Given the description of an element on the screen output the (x, y) to click on. 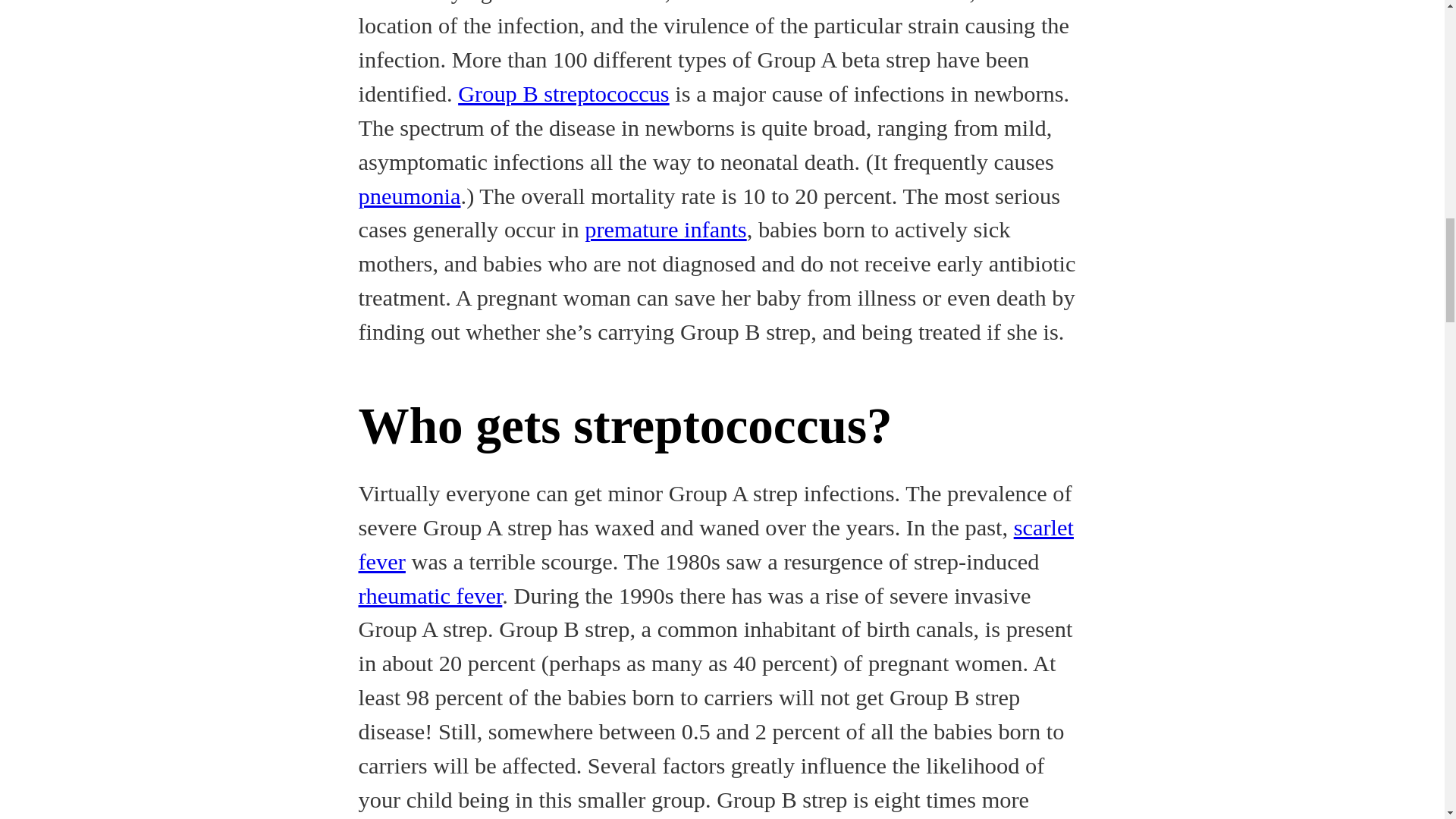
pneumonia (409, 196)
scarlet fever (715, 544)
Group B streptococcus (563, 94)
rheumatic fever (430, 596)
premature infants (665, 229)
